Given the description of an element on the screen output the (x, y) to click on. 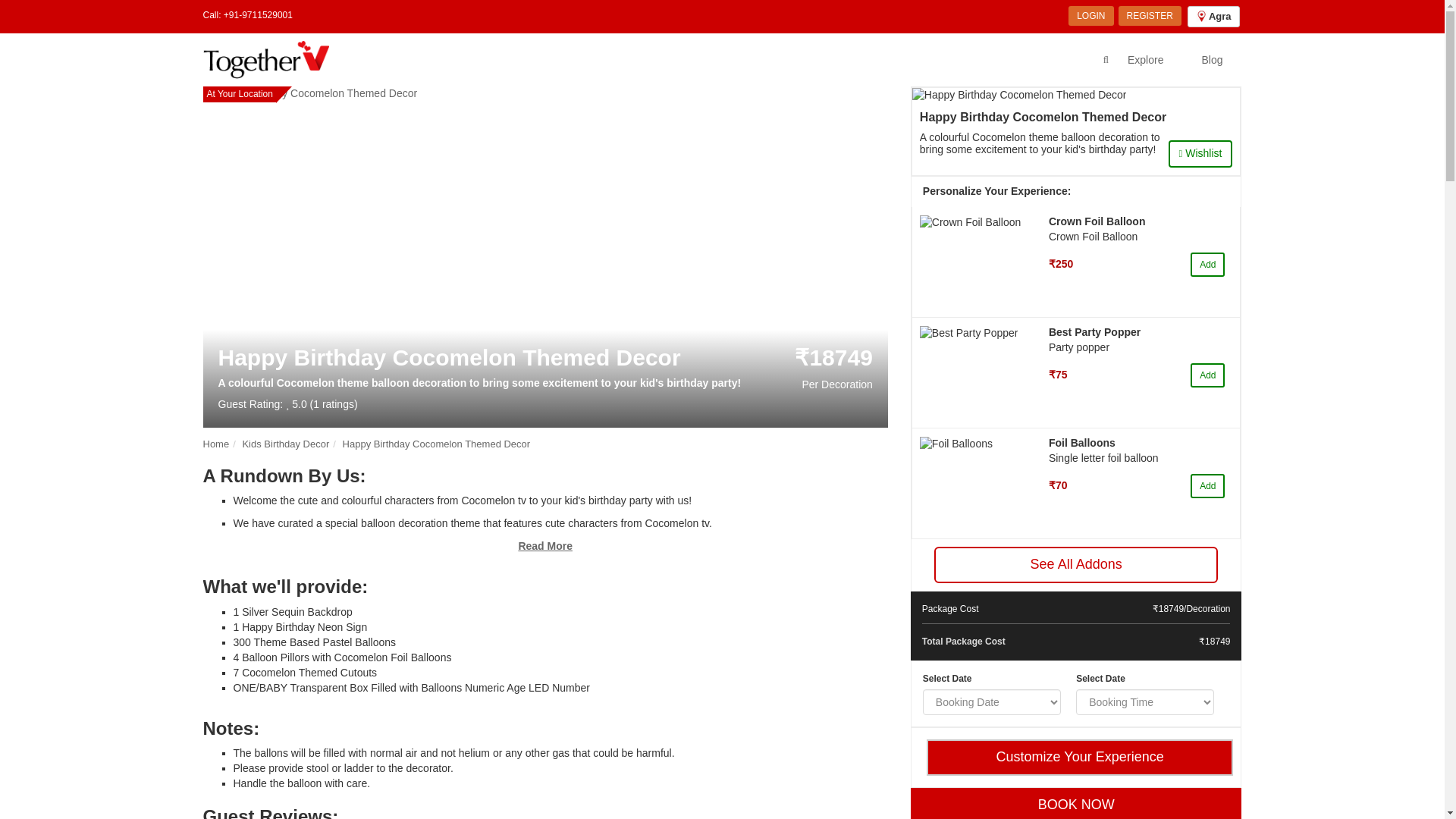
Add (1207, 375)
Add (1207, 264)
LOGIN (1090, 15)
Read More (545, 545)
Explore (1144, 59)
Happy Birthday Cocomelon Themed Decor (436, 443)
Blog (1212, 59)
Agra (1214, 16)
REGISTER (1149, 15)
Home (216, 443)
Kids Birthday Decor (285, 443)
Add (1207, 485)
Wishlist (1201, 153)
